Given the description of an element on the screen output the (x, y) to click on. 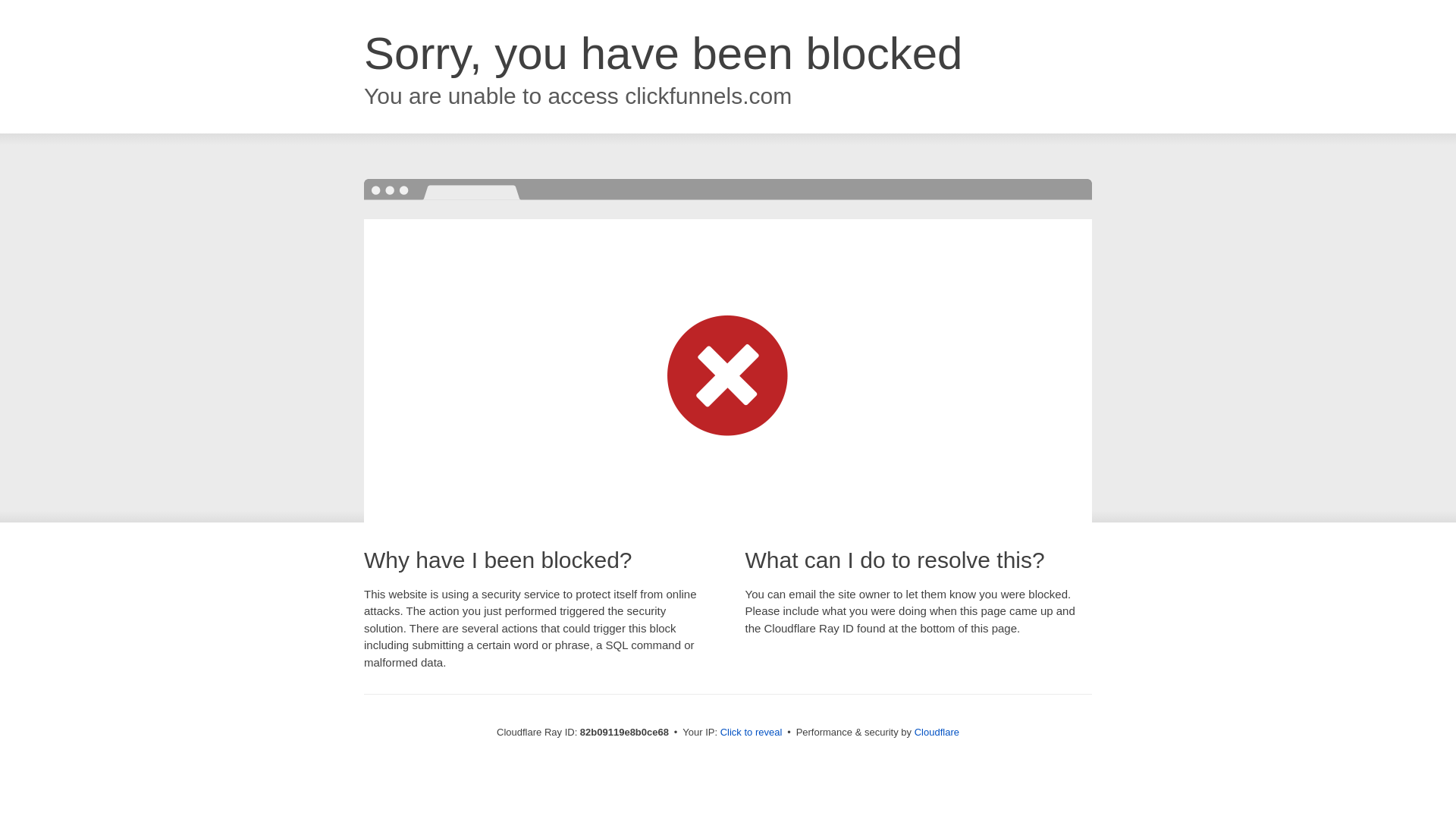
Click to reveal Element type: text (751, 732)
Cloudflare Element type: text (936, 731)
